Given the description of an element on the screen output the (x, y) to click on. 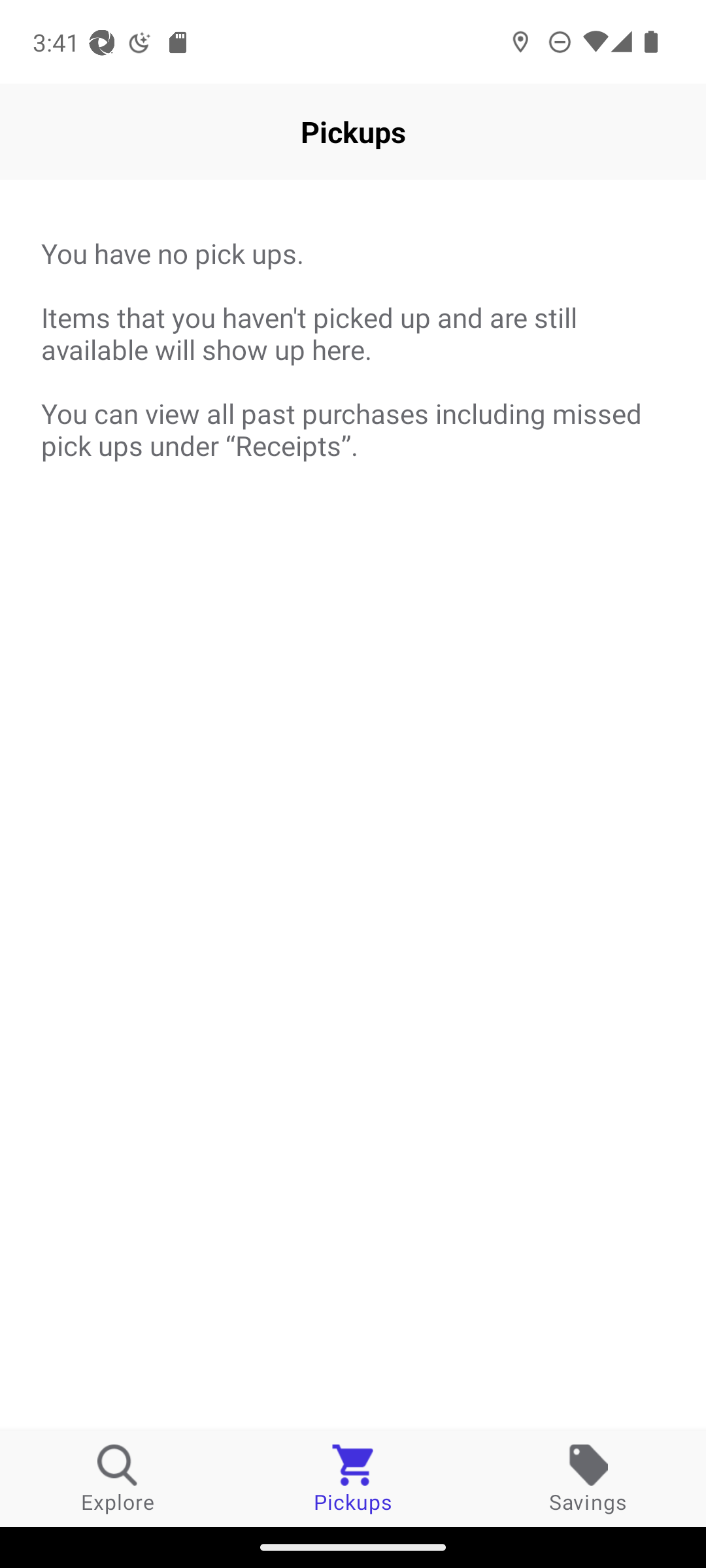
Explore (117, 1478)
Savings (588, 1478)
